Given the description of an element on the screen output the (x, y) to click on. 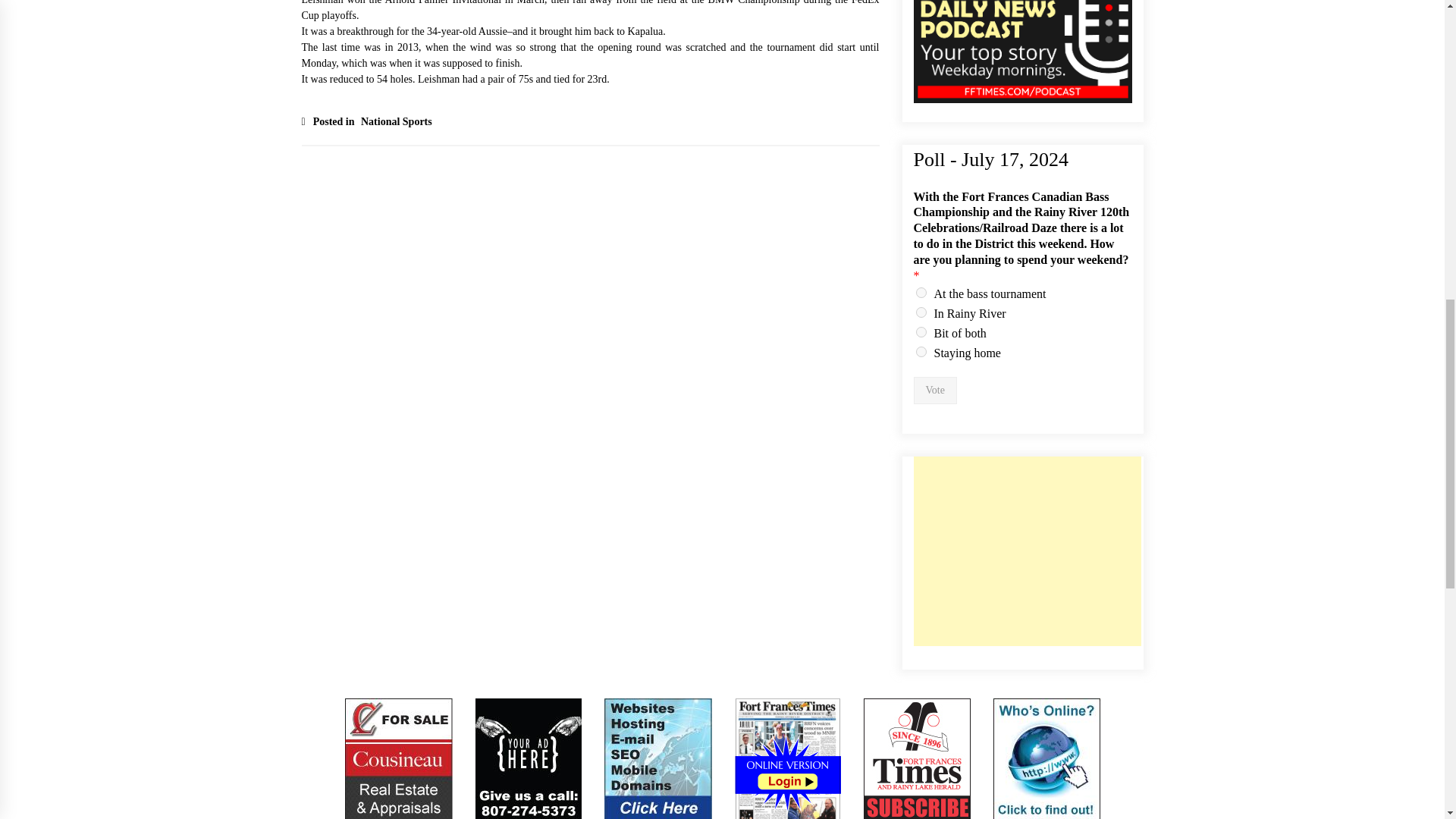
At the bass tournament (920, 292)
Advertisement (1026, 551)
Staying home (920, 351)
In Rainy River (920, 312)
Bit of both (920, 331)
